Given the description of an element on the screen output the (x, y) to click on. 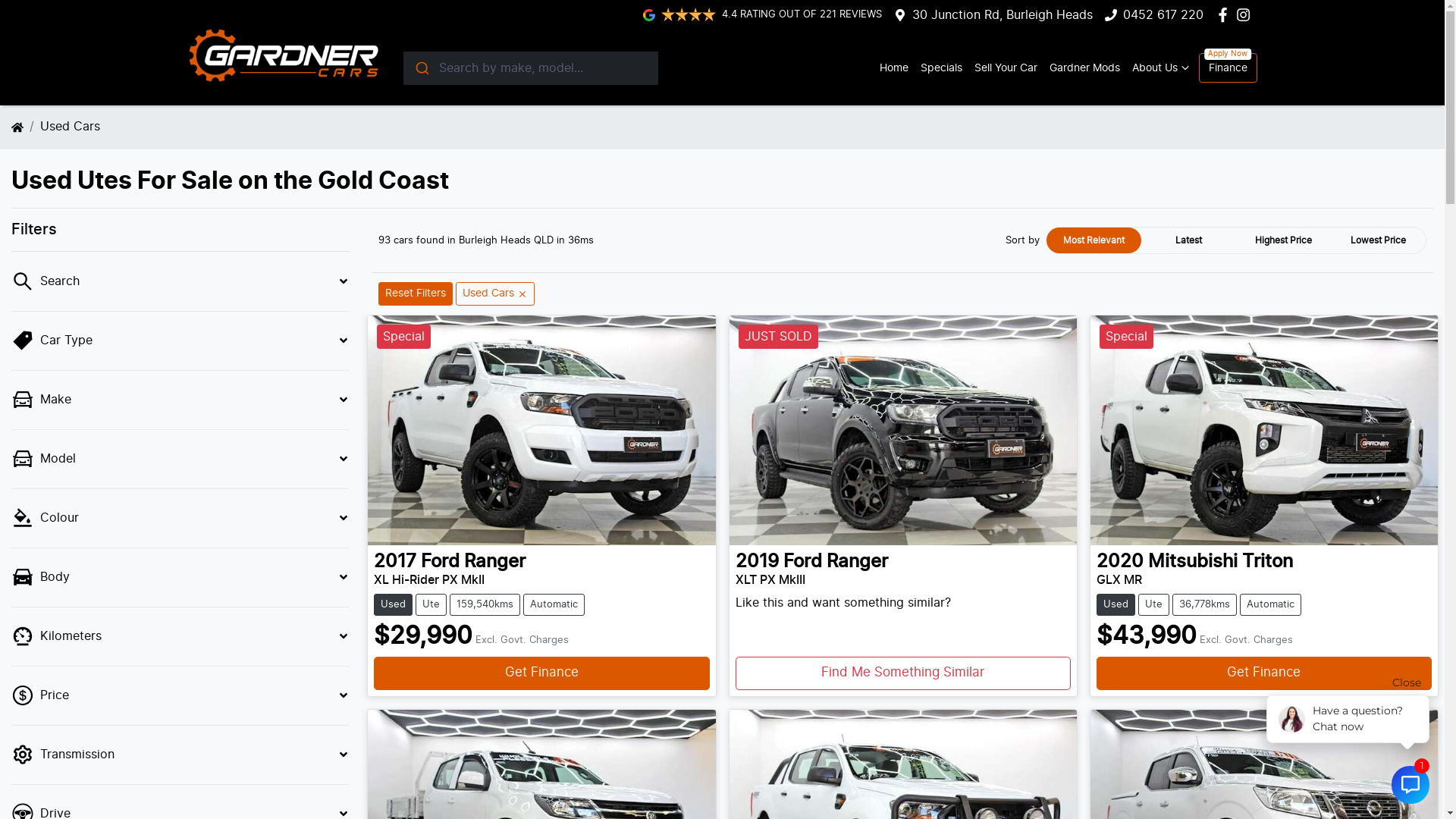
Transmission Element type: text (180, 754)
Make Element type: text (180, 399)
Reset Filters Element type: text (415, 293)
Finance Element type: text (1227, 68)
Find Me Something Similar Element type: text (902, 672)
30 Junction Rd, Burleigh Heads Element type: text (1002, 15)
Special Element type: text (1263, 429)
Get Finance Element type: text (1263, 672)
Price Element type: text (180, 695)
Search Element type: text (180, 281)
Body Element type: text (180, 577)
JUST SOLD Element type: text (902, 429)
Colour Element type: text (180, 518)
Car Type Element type: text (180, 340)
About Us Element type: text (1161, 68)
Kilometers Element type: text (180, 636)
Submit Element type: hover (421, 67)
Sell Your Car Element type: text (1004, 67)
Home Element type: text (893, 67)
0452 617 220 Element type: text (1163, 15)
Model Element type: text (180, 459)
Get Finance Element type: text (541, 672)
Gardner Mods Element type: text (1084, 67)
Special Element type: text (541, 429)
Specials Element type: text (941, 67)
